Given the description of an element on the screen output the (x, y) to click on. 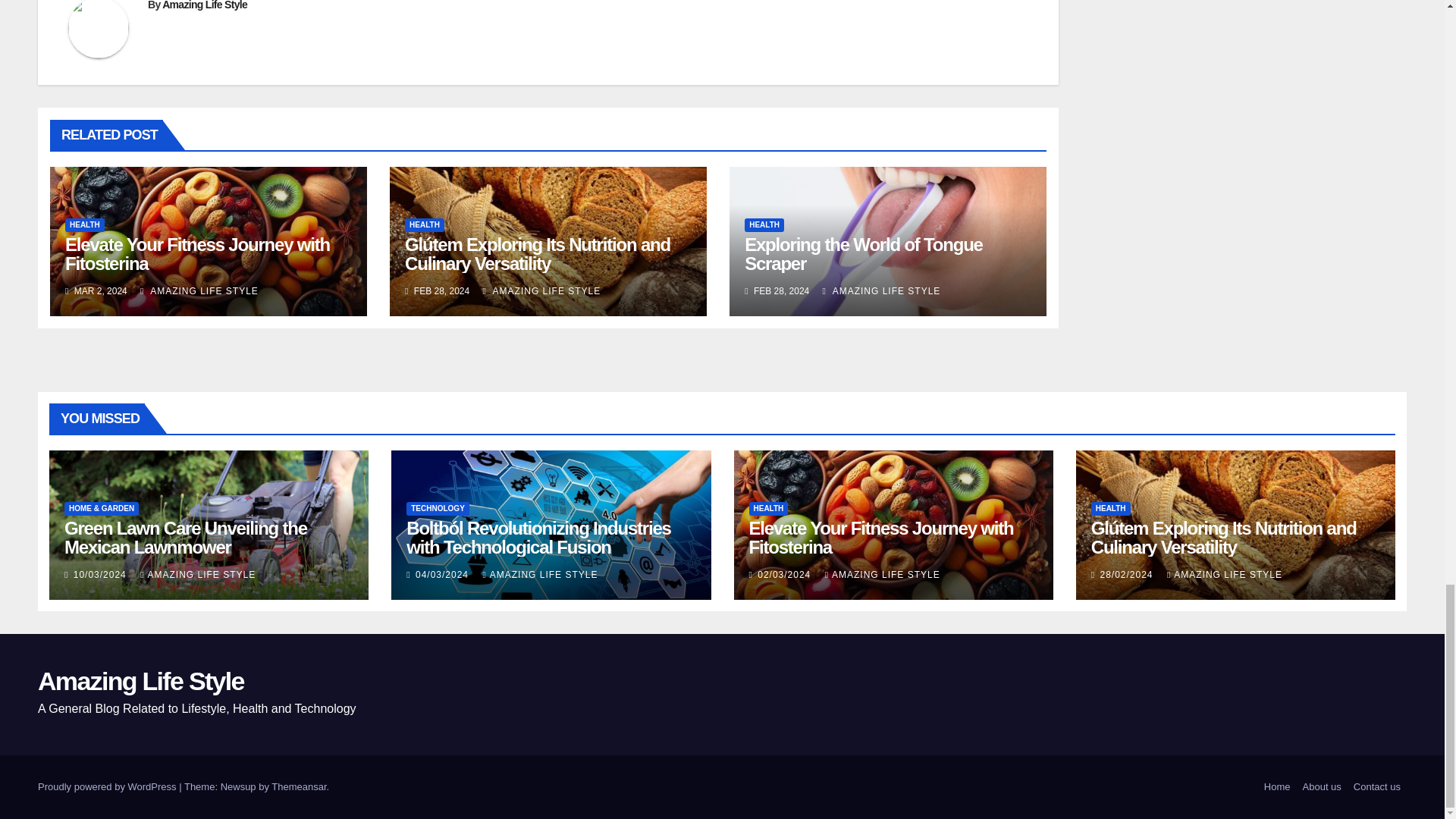
HEALTH (424, 224)
Permalink to: Elevate Your Fitness Journey with Fitosterina (197, 253)
AMAZING LIFE STYLE (199, 290)
HEALTH (84, 224)
Permalink to: Elevate Your Fitness Journey with Fitosterina (881, 537)
Elevate Your Fitness Journey with Fitosterina (197, 253)
Permalink to: Exploring the World of Tongue Scraper (863, 253)
Amazing Life Style (204, 5)
